Given the description of an element on the screen output the (x, y) to click on. 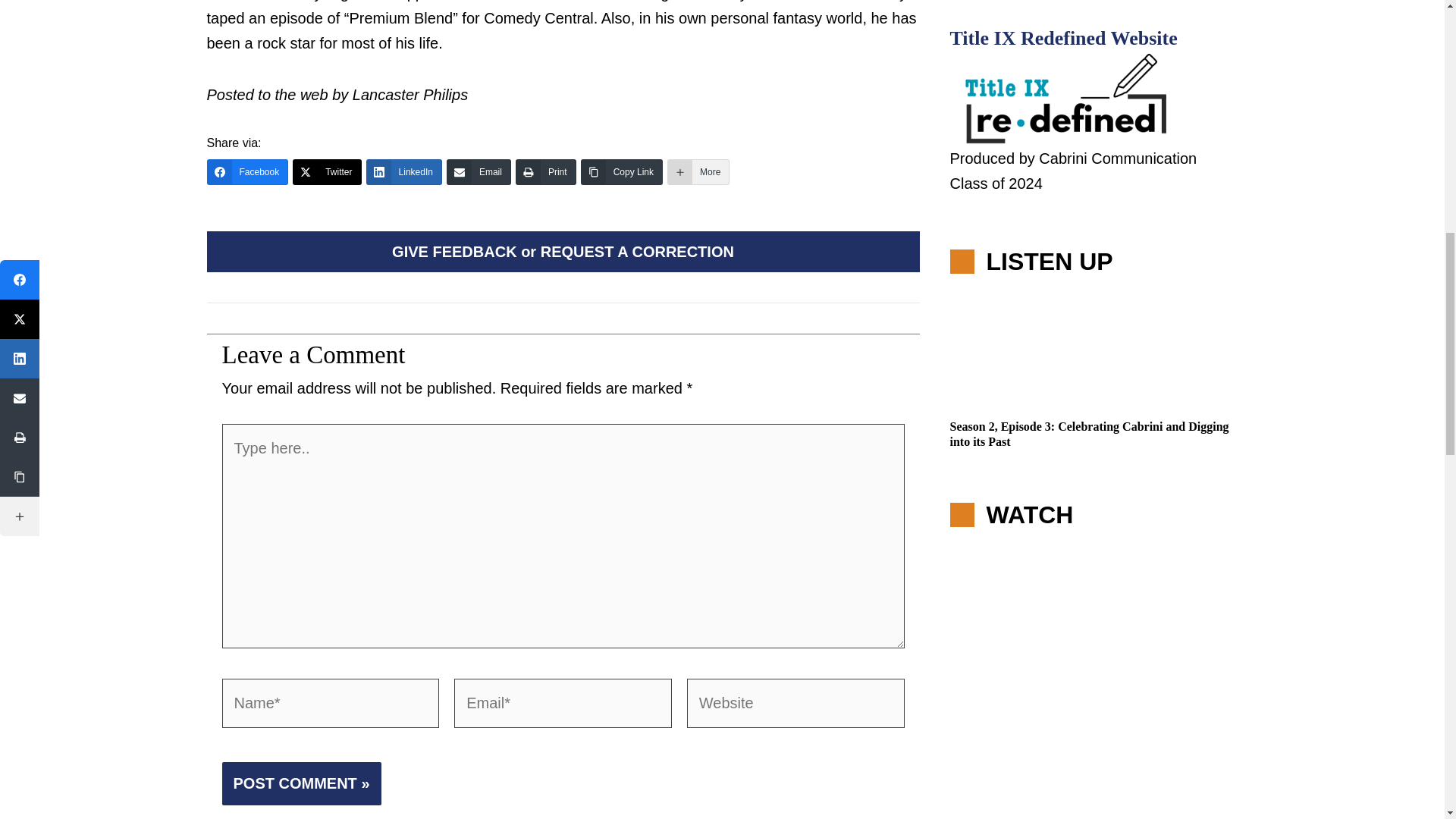
YouTube video player (1093, 676)
